Given the description of an element on the screen output the (x, y) to click on. 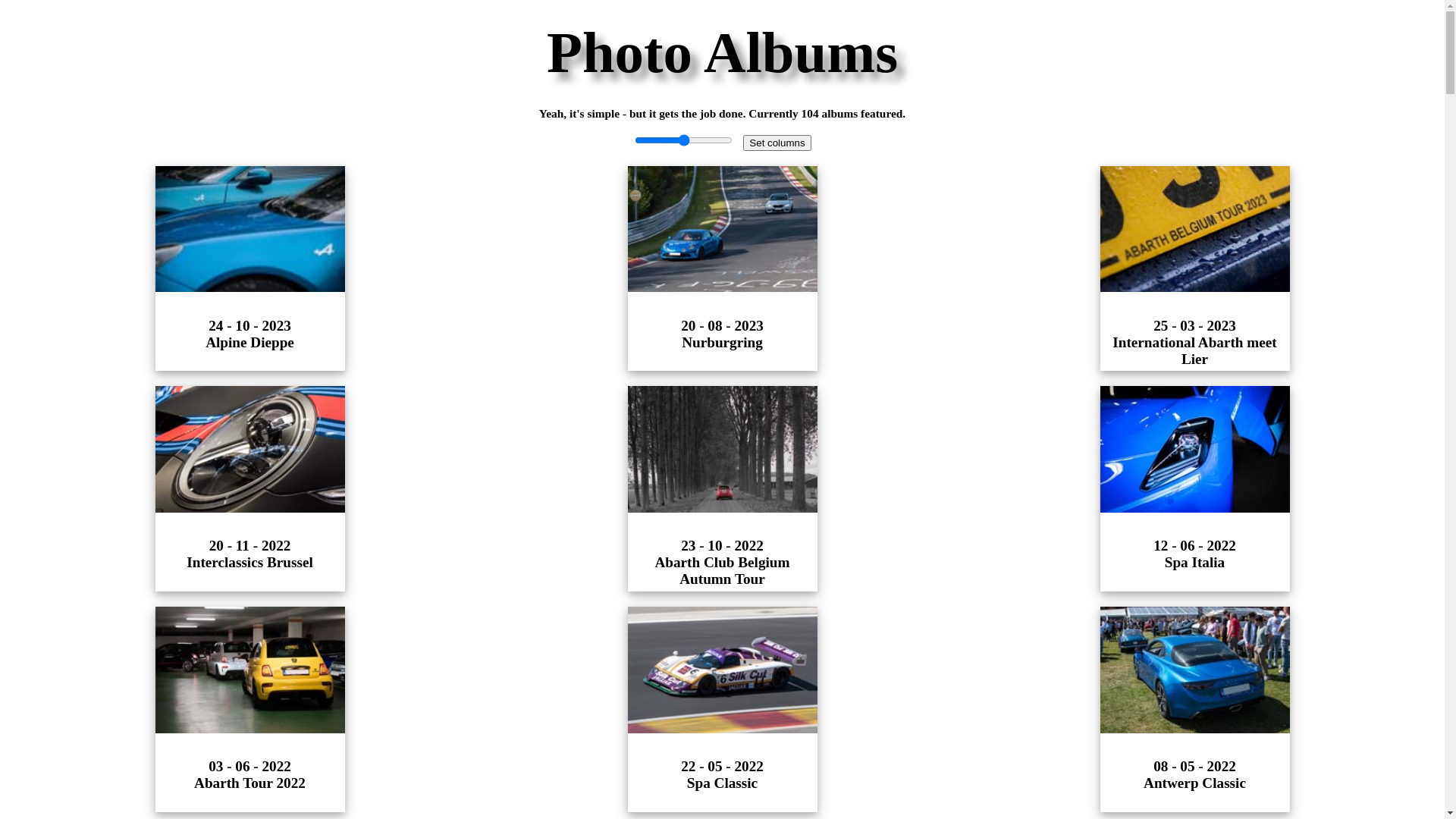
Set columns Element type: text (776, 142)
